Given the description of an element on the screen output the (x, y) to click on. 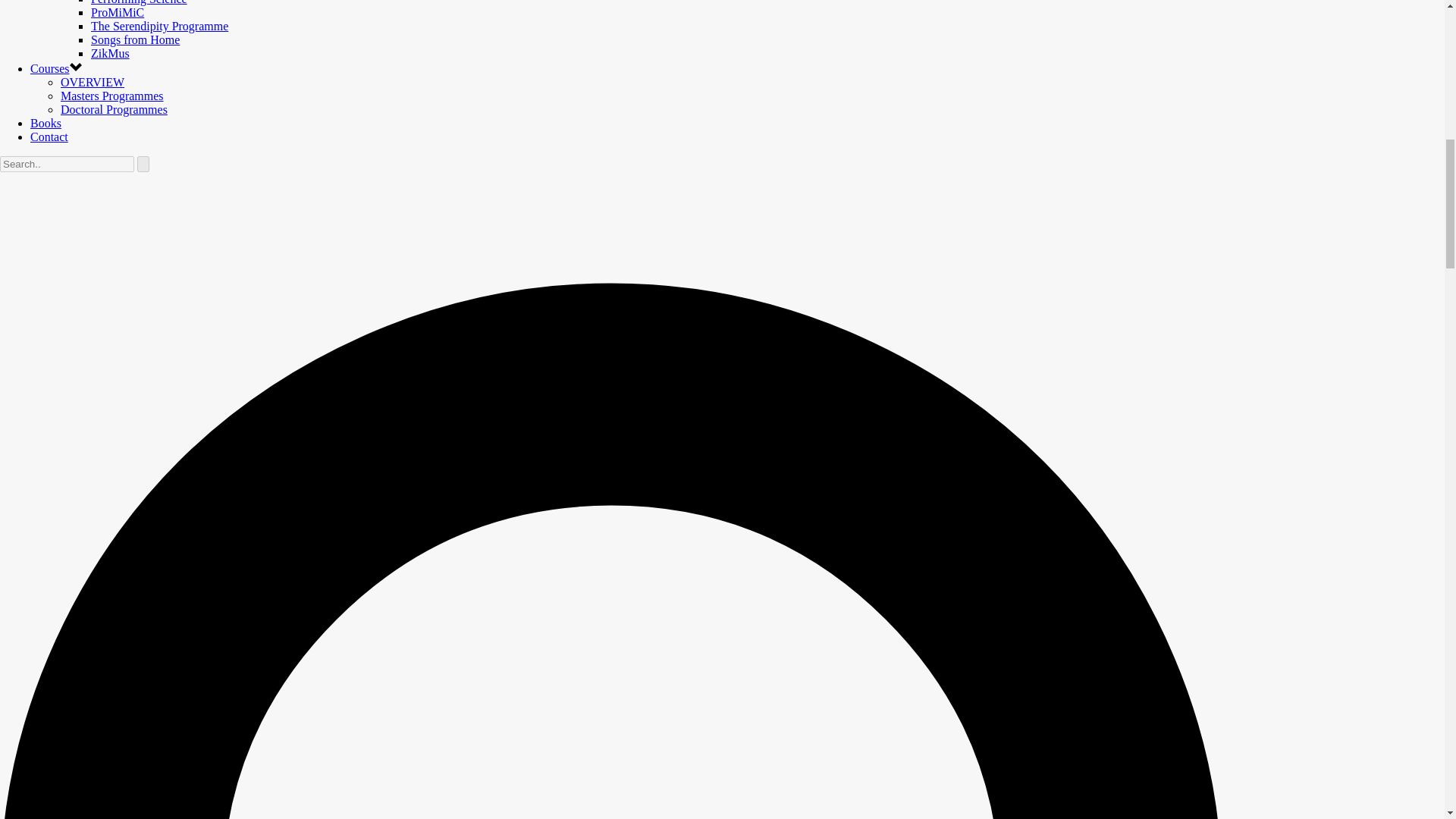
Courses (49, 68)
Masters Programmes (112, 95)
OVERVIEW (92, 82)
Doctoral Programmes (114, 109)
Songs from Home (134, 39)
The Serendipity Programme (159, 25)
ZikMus (109, 52)
Contact (49, 136)
Performing Science (138, 2)
ProMiMiC (117, 11)
Books (45, 123)
